Given the description of an element on the screen output the (x, y) to click on. 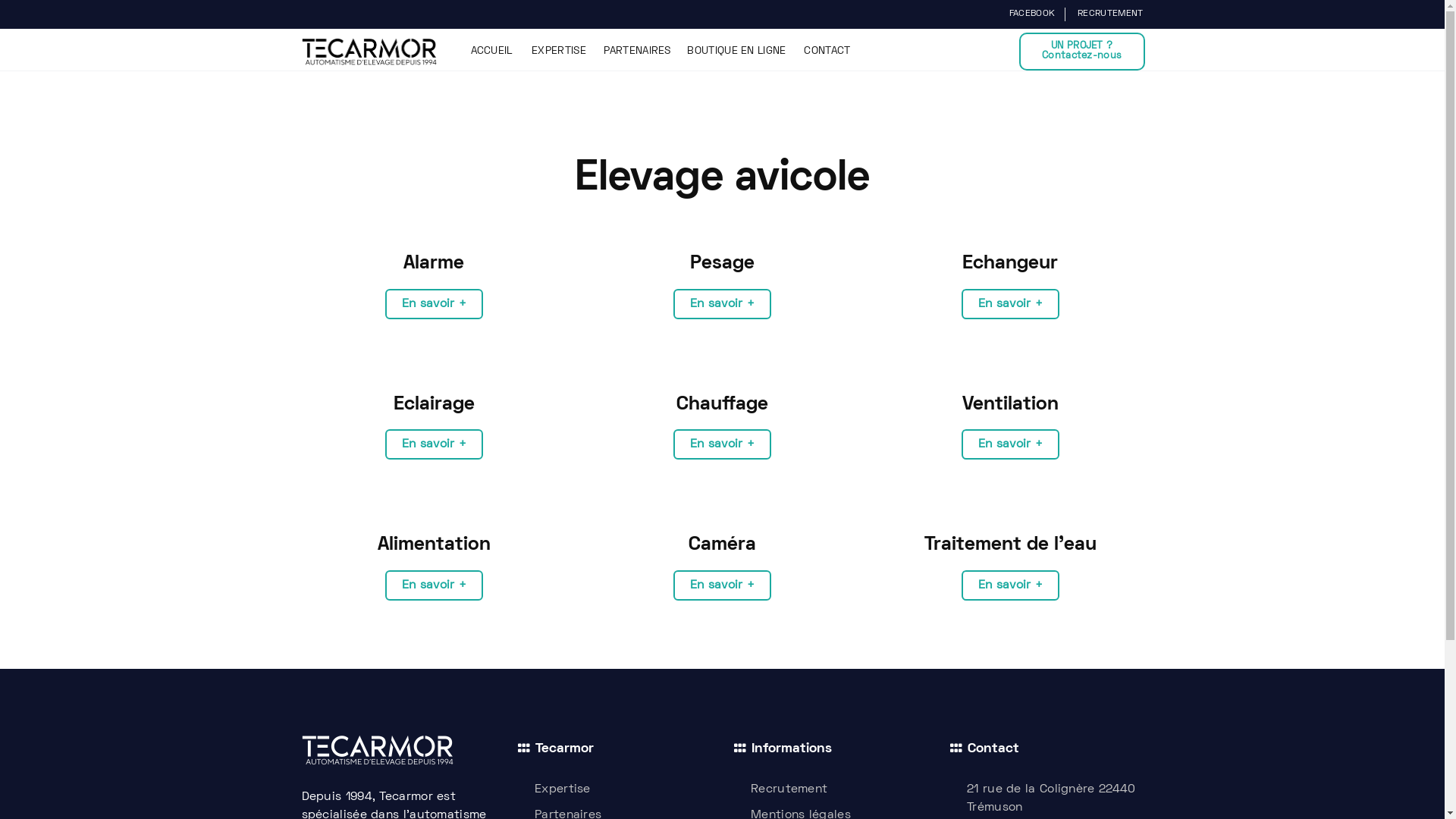
UN PROJET ? Contactez-nous Element type: text (1082, 51)
Expertise Element type: text (613, 789)
BOUTIQUE EN LIGNE Element type: text (736, 51)
LOGO_TECARMOR_website_wp-blanc Element type: hover (377, 749)
ACCUEIL Element type: text (490, 51)
En savoir + Element type: text (1010, 444)
En savoir + Element type: text (1010, 303)
Recrutement Element type: text (830, 789)
En savoir + Element type: text (434, 585)
RECRUTEMENT Element type: text (1108, 14)
En savoir + Element type: text (434, 303)
CONTACT Element type: text (826, 51)
PARTENAIRES Element type: text (636, 51)
En savoir + Element type: text (722, 444)
En savoir + Element type: text (722, 303)
EXPERTISE Element type: text (558, 51)
En savoir + Element type: text (1010, 585)
En savoir + Element type: text (434, 444)
FACEBOOK Element type: text (1030, 14)
En savoir + Element type: text (722, 585)
